Given the description of an element on the screen output the (x, y) to click on. 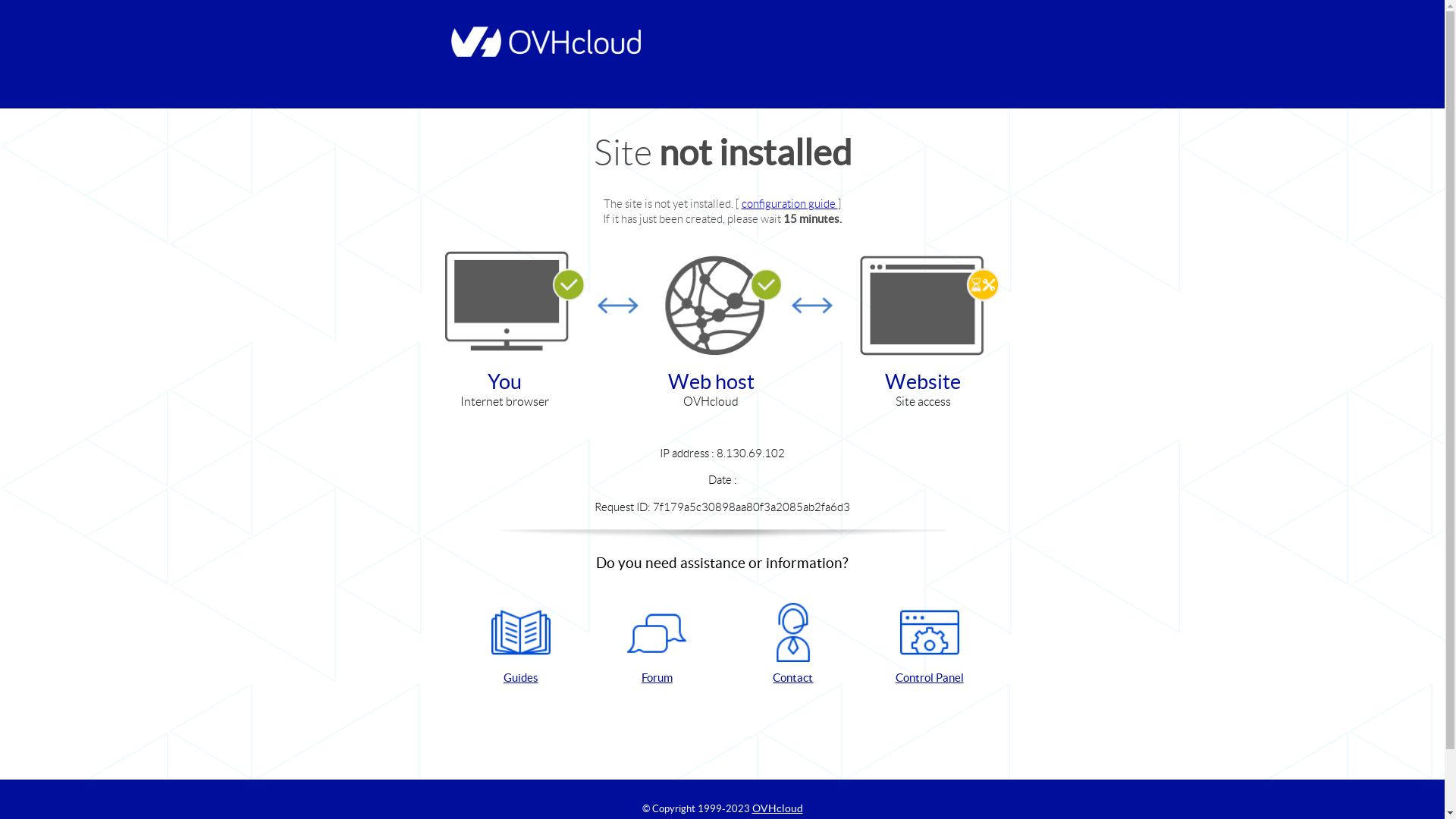
Contact Element type: text (792, 644)
Control Panel Element type: text (929, 644)
Forum Element type: text (656, 644)
configuration guide Element type: text (789, 203)
Guides Element type: text (520, 644)
OVHcloud Element type: text (777, 808)
